Given the description of an element on the screen output the (x, y) to click on. 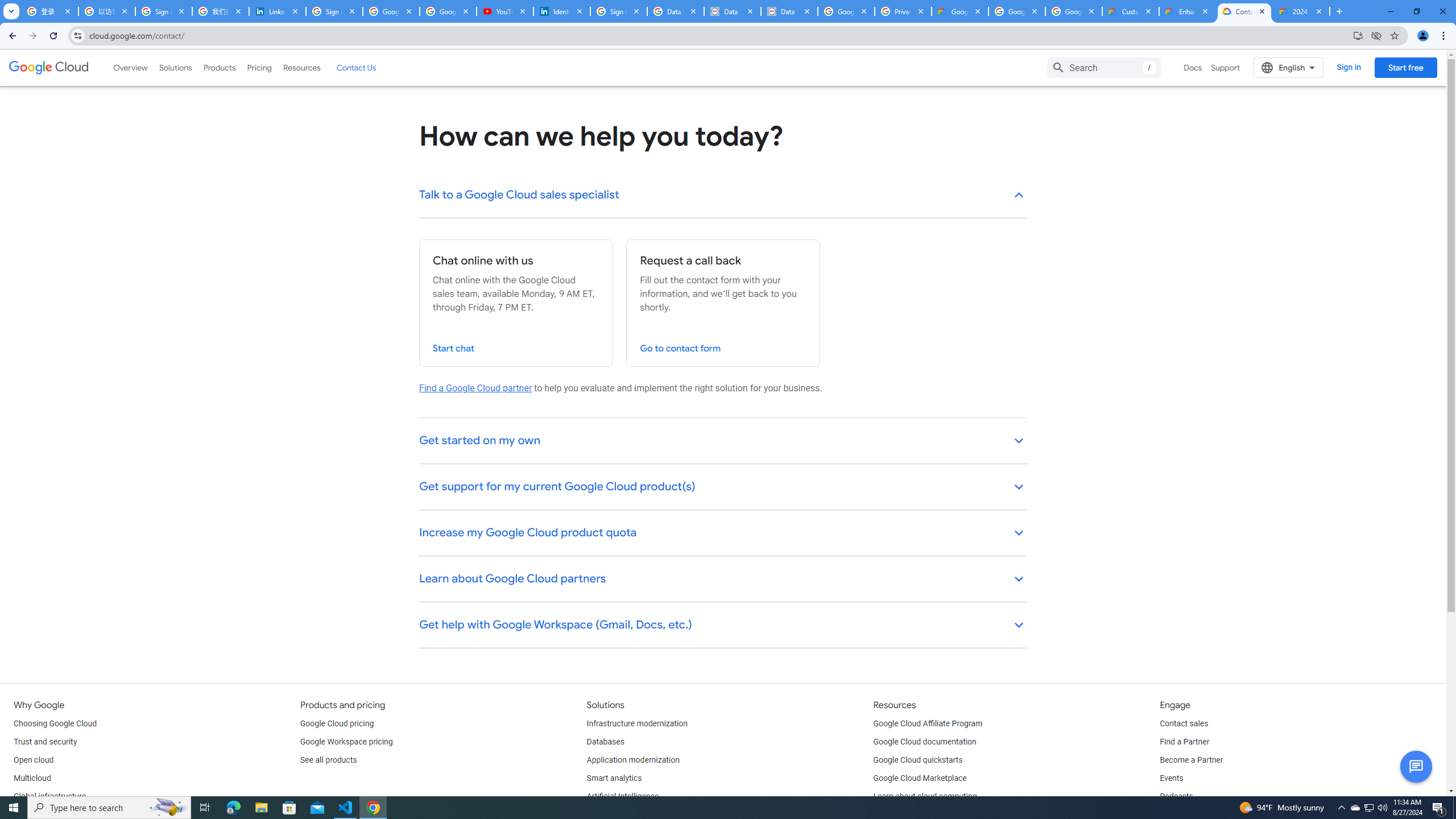
Google Cloud (48, 67)
Google Cloud Terms Directory | Google Cloud (959, 11)
Infrastructure modernization (637, 723)
Customer Care | Google Cloud (1130, 11)
Docs (1192, 67)
English (1288, 67)
Google Cloud quickstarts (917, 760)
Google Cloud Marketplace (919, 778)
Multicloud (31, 778)
